Given the description of an element on the screen output the (x, y) to click on. 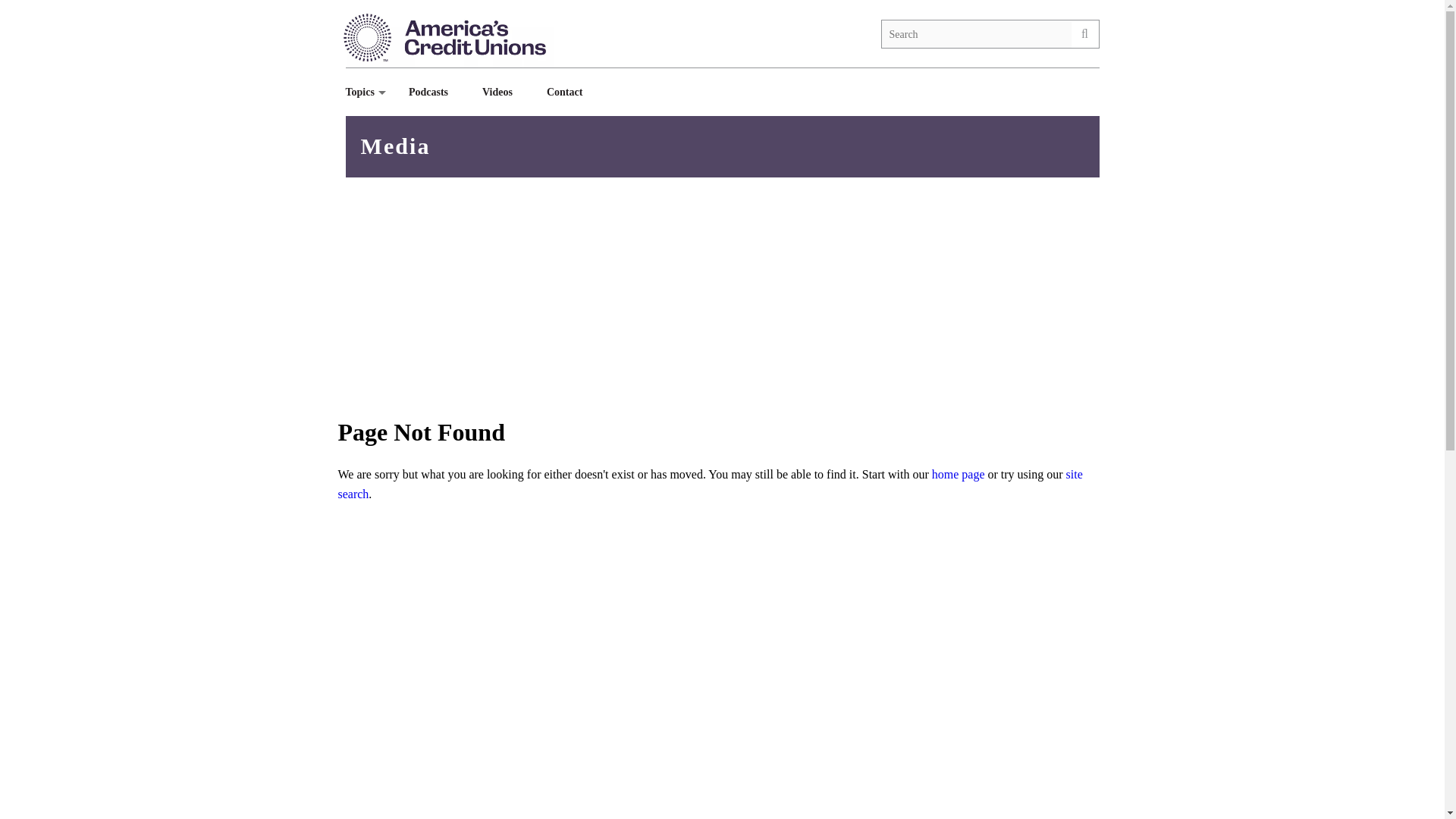
3rd party ad content (985, 787)
3rd party ad content (985, 638)
